Given the description of an element on the screen output the (x, y) to click on. 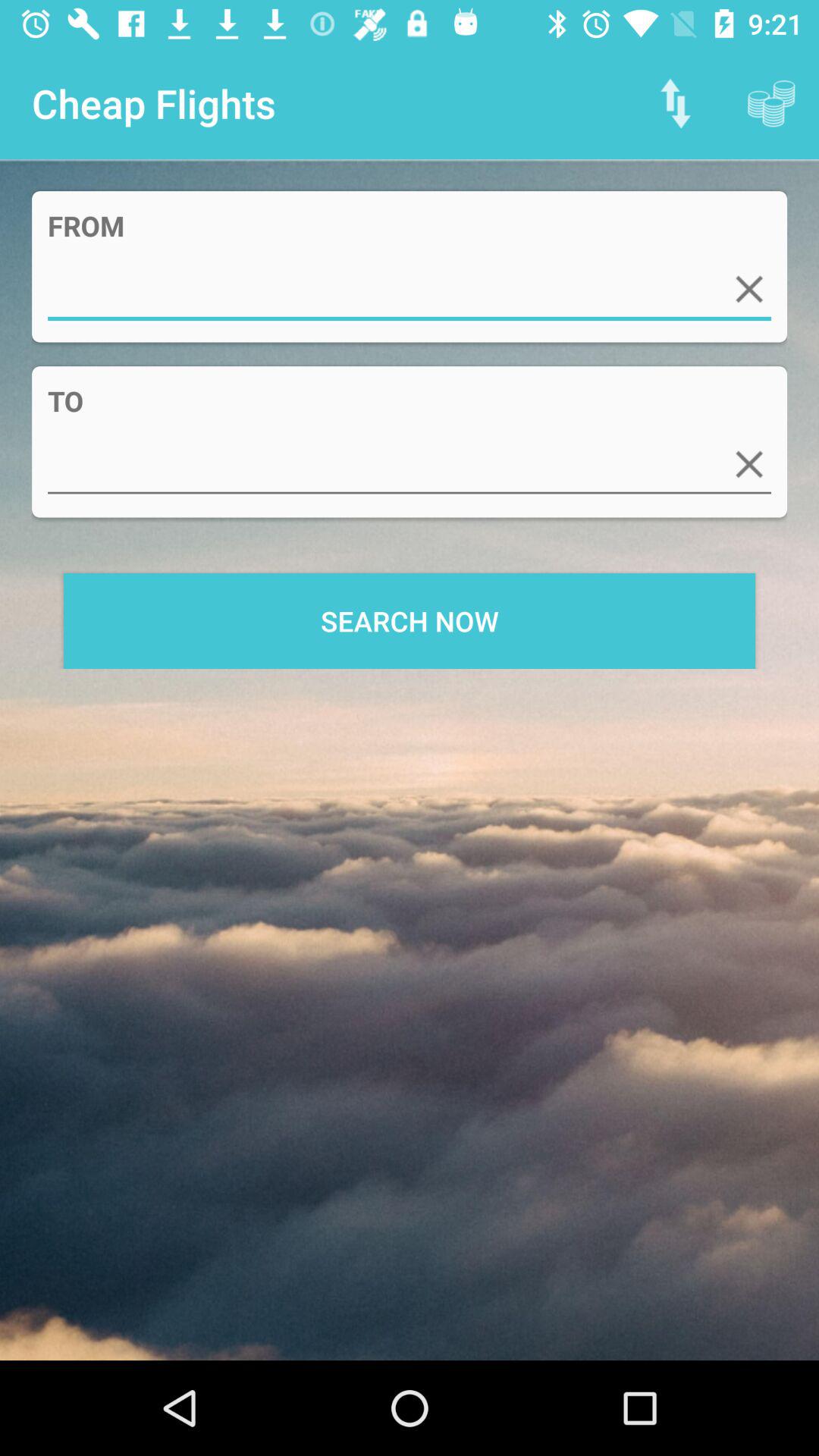
close out this box (749, 289)
